Given the description of an element on the screen output the (x, y) to click on. 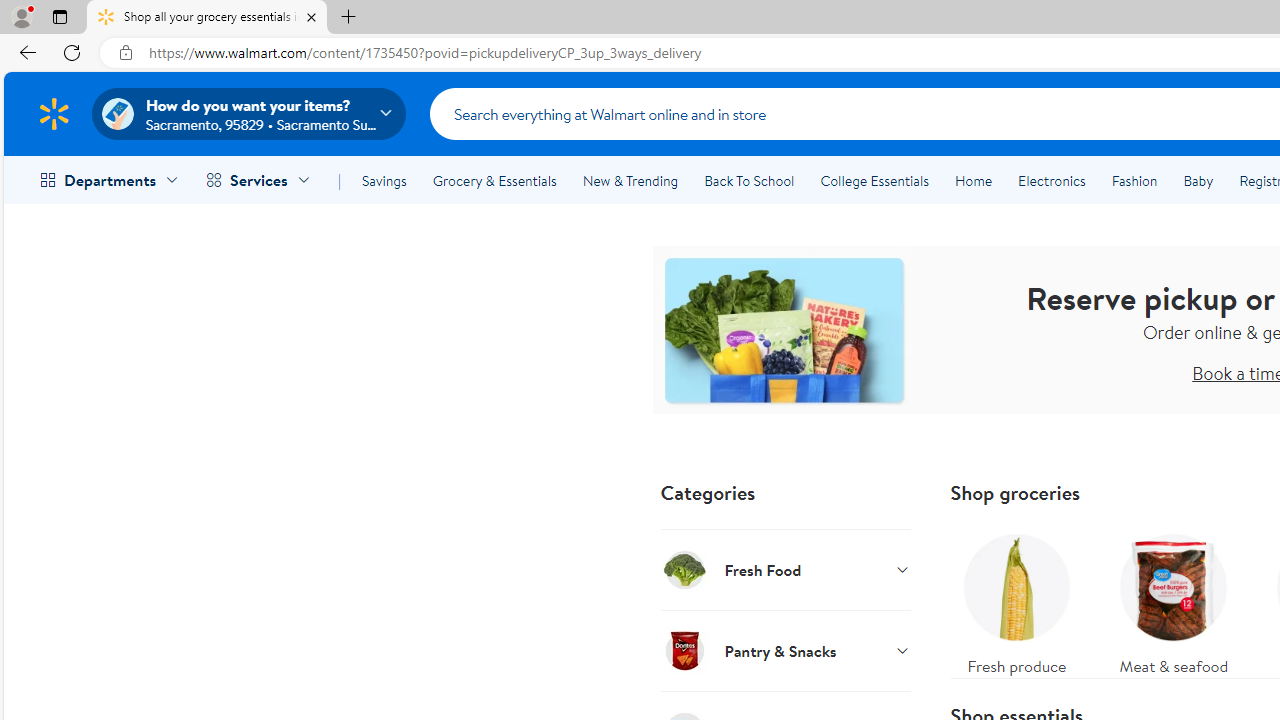
Walmart Homepage (53, 113)
Electronics (1051, 180)
Grocery & Essentials (493, 180)
Baby (1197, 180)
Fresh produce (1016, 599)
Electronics (1051, 180)
New & Trending (630, 180)
Fashion (1134, 180)
